Given the description of an element on the screen output the (x, y) to click on. 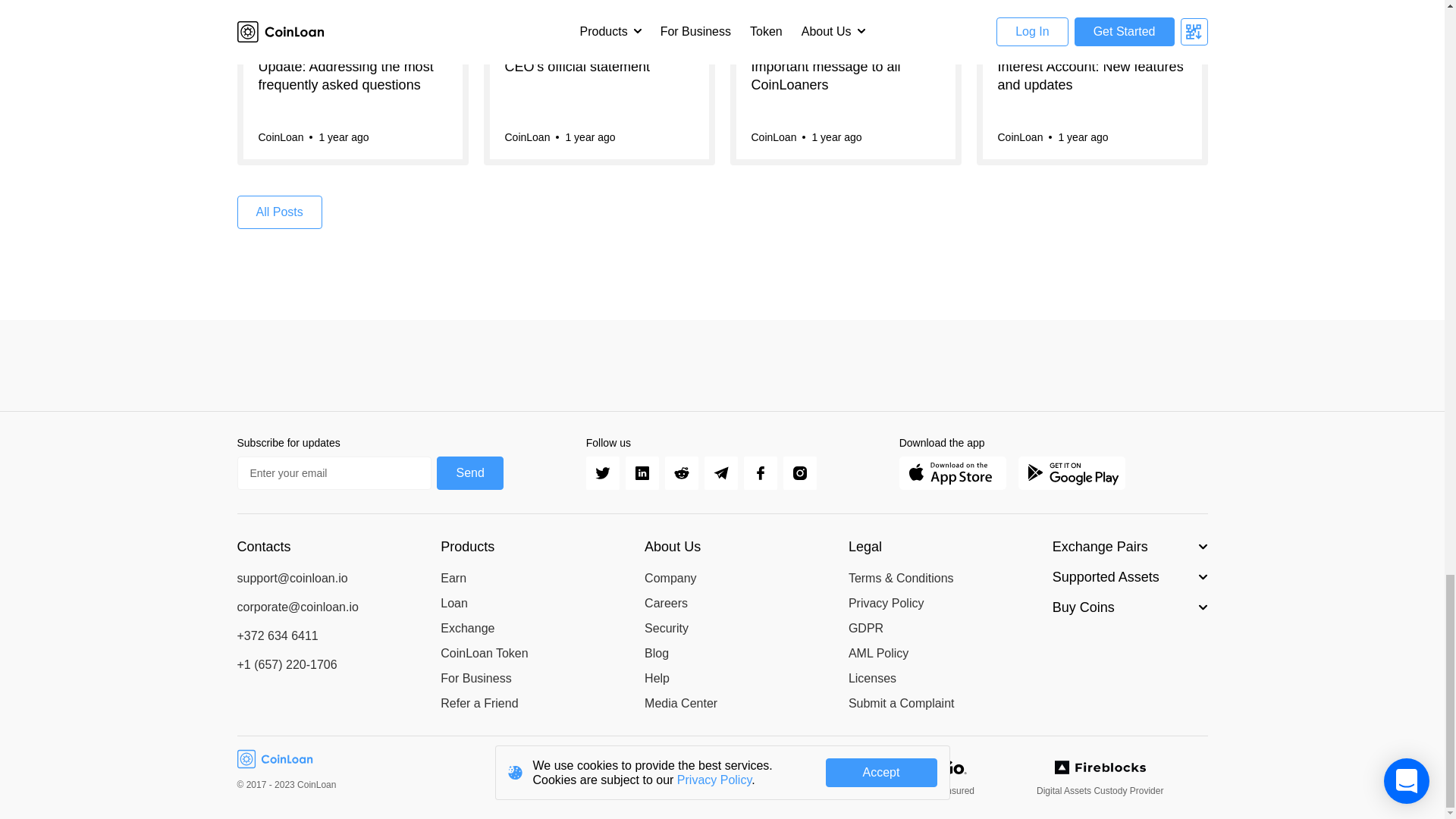
ANNOUNCEMENT (351, 82)
CoinLoan (279, 136)
Update: Addressing the most frequently asked questions (351, 84)
